Given the description of an element on the screen output the (x, y) to click on. 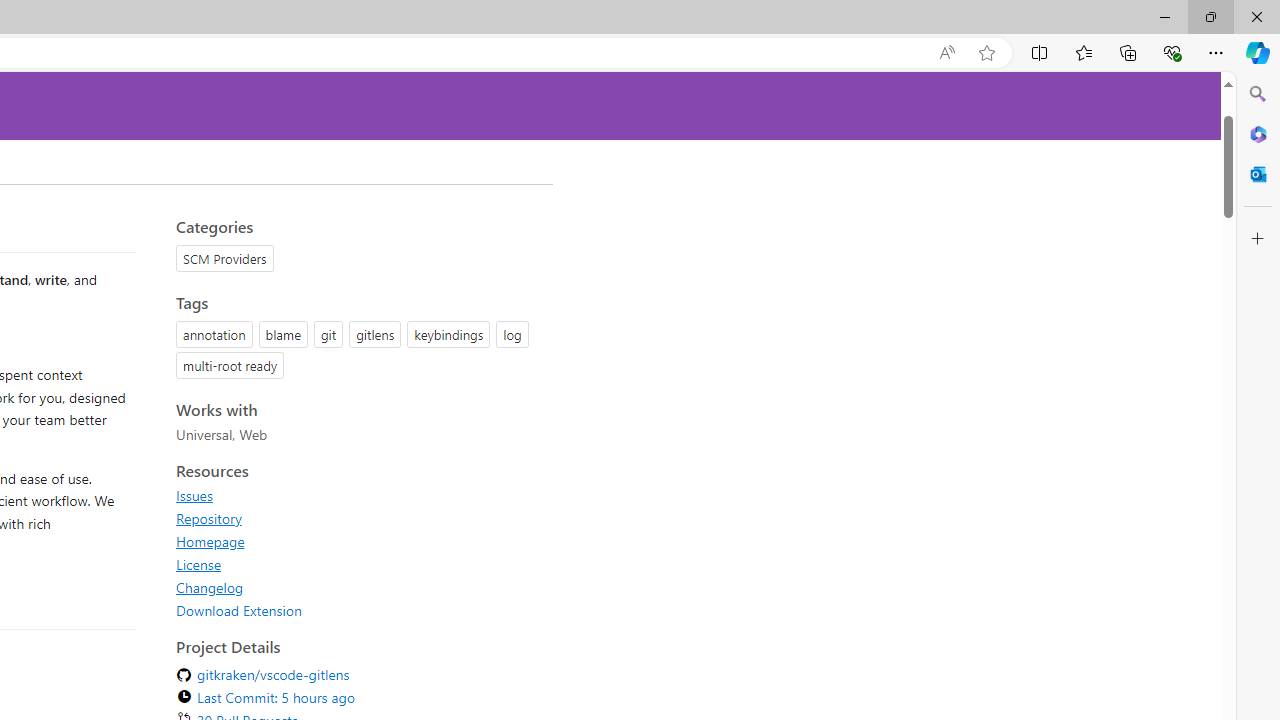
Minimize (1164, 16)
Read aloud this page (Ctrl+Shift+U) (946, 53)
Download Extension (239, 610)
Download Extension (358, 610)
Issues (194, 495)
